Given the description of an element on the screen output the (x, y) to click on. 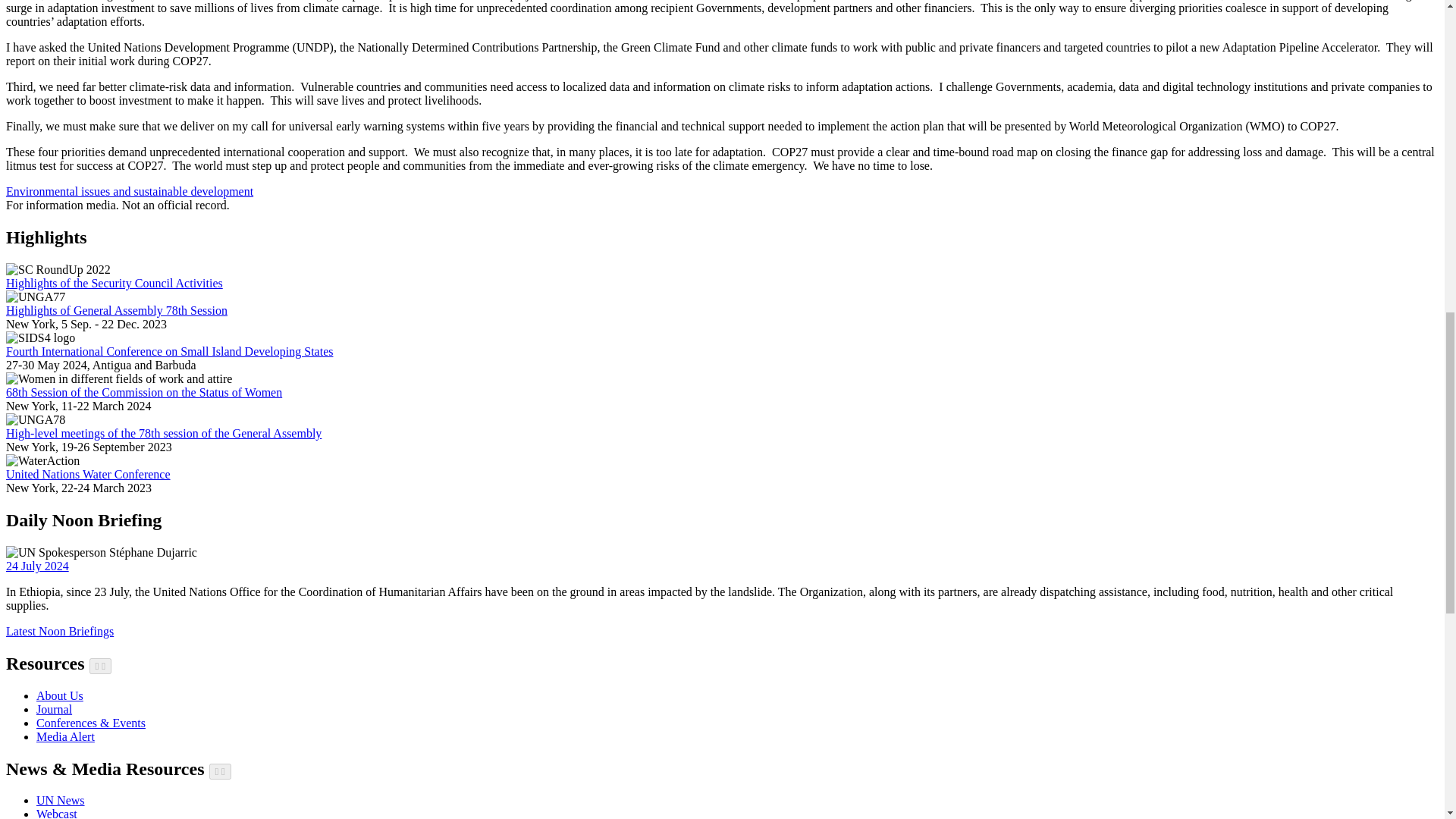
Link to English About Us Page (59, 695)
Highlights of the Security Council Activities (113, 282)
Journal (53, 708)
Media Alert (65, 736)
Global perspective Human stories (60, 799)
Environmental issues and sustainable development (129, 191)
Webcast (56, 813)
Highlights of General Assembly 78th Session (116, 309)
